Given the description of an element on the screen output the (x, y) to click on. 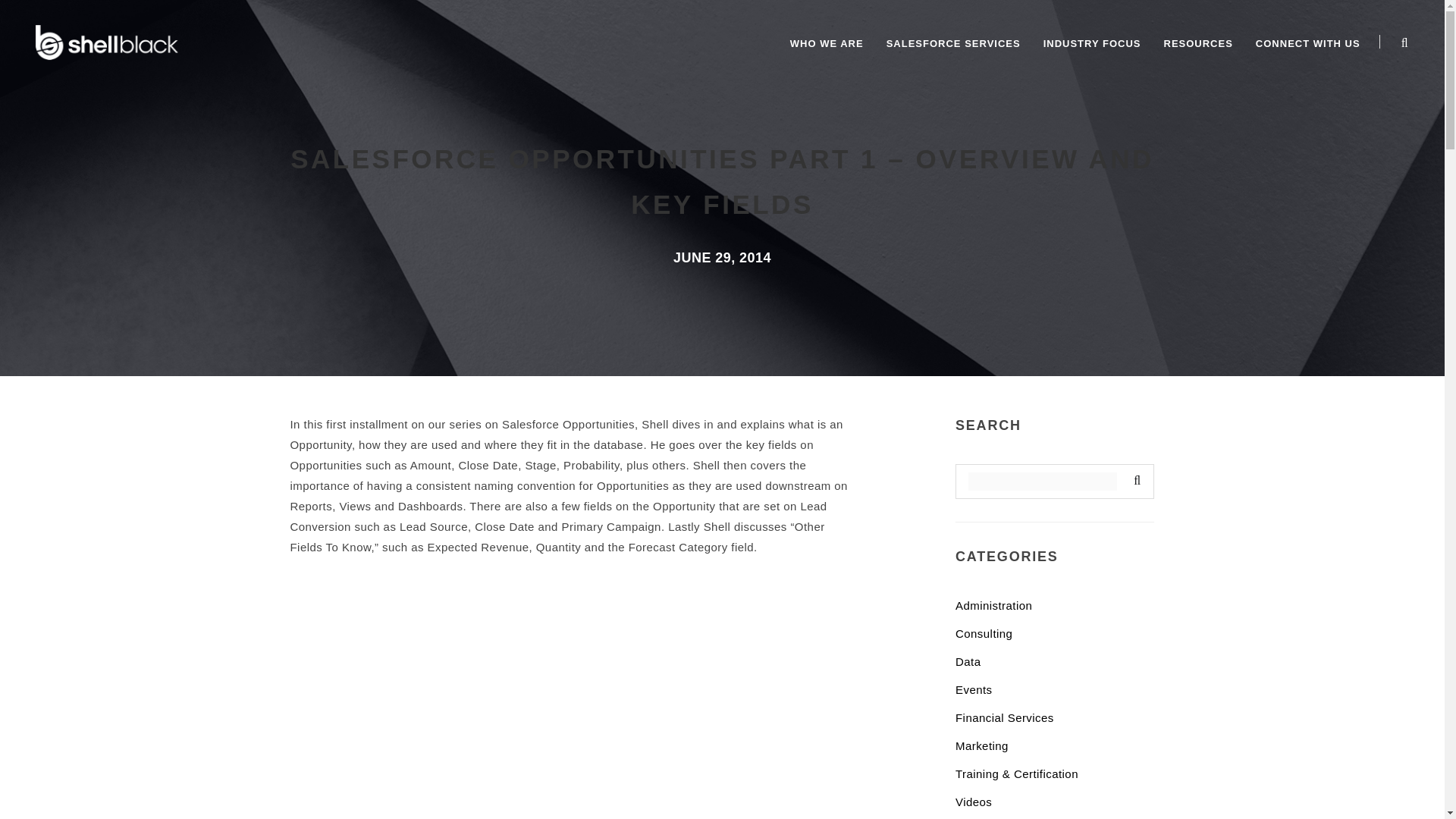
Search (1134, 481)
WHO WE ARE (826, 44)
RESOURCES (1198, 44)
SALESFORCE SERVICES (953, 44)
ShellBlack (106, 40)
INDUSTRY FOCUS (1092, 44)
